Given the description of an element on the screen output the (x, y) to click on. 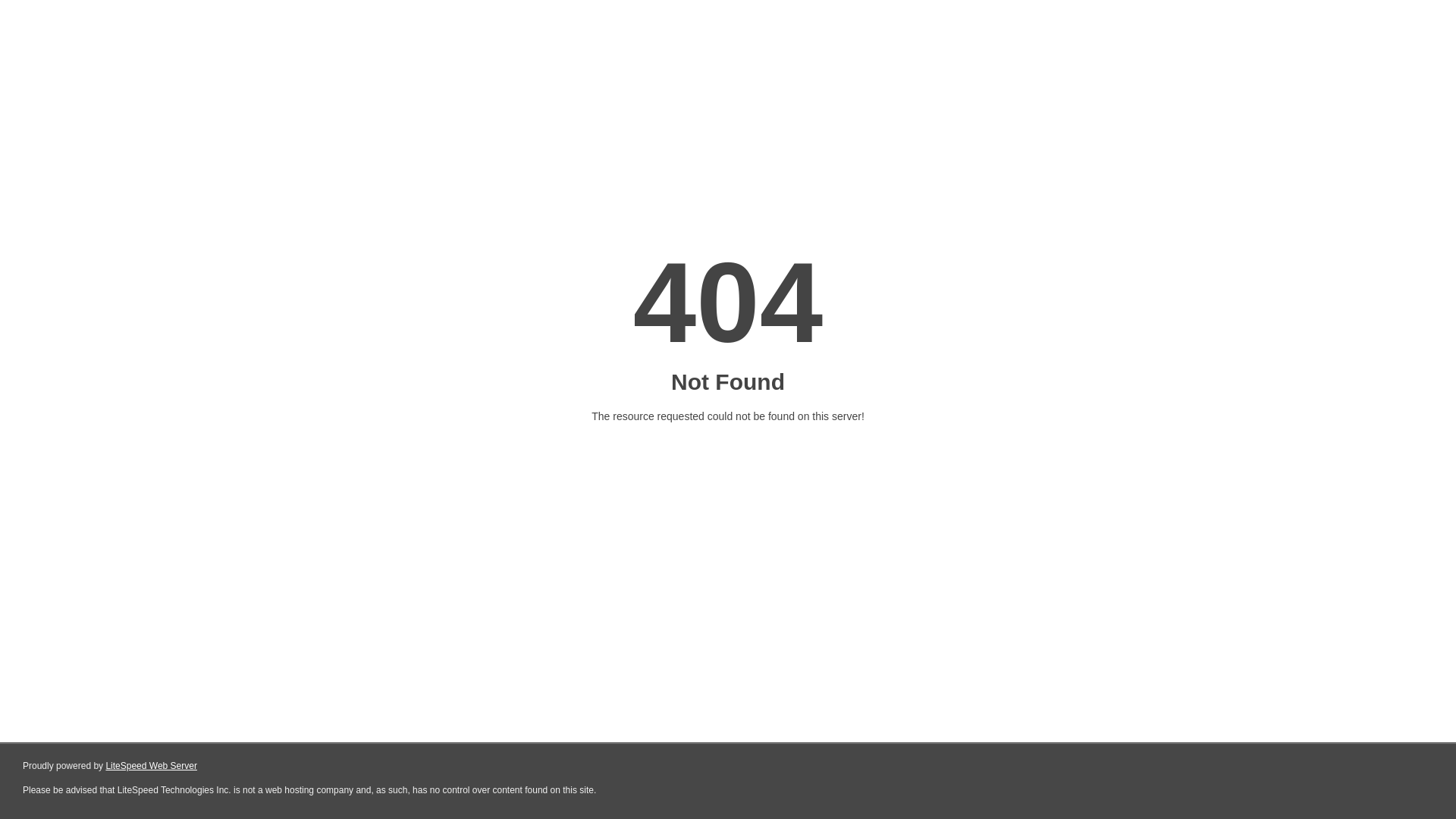
LiteSpeed Web Server Element type: text (151, 765)
